Given the description of an element on the screen output the (x, y) to click on. 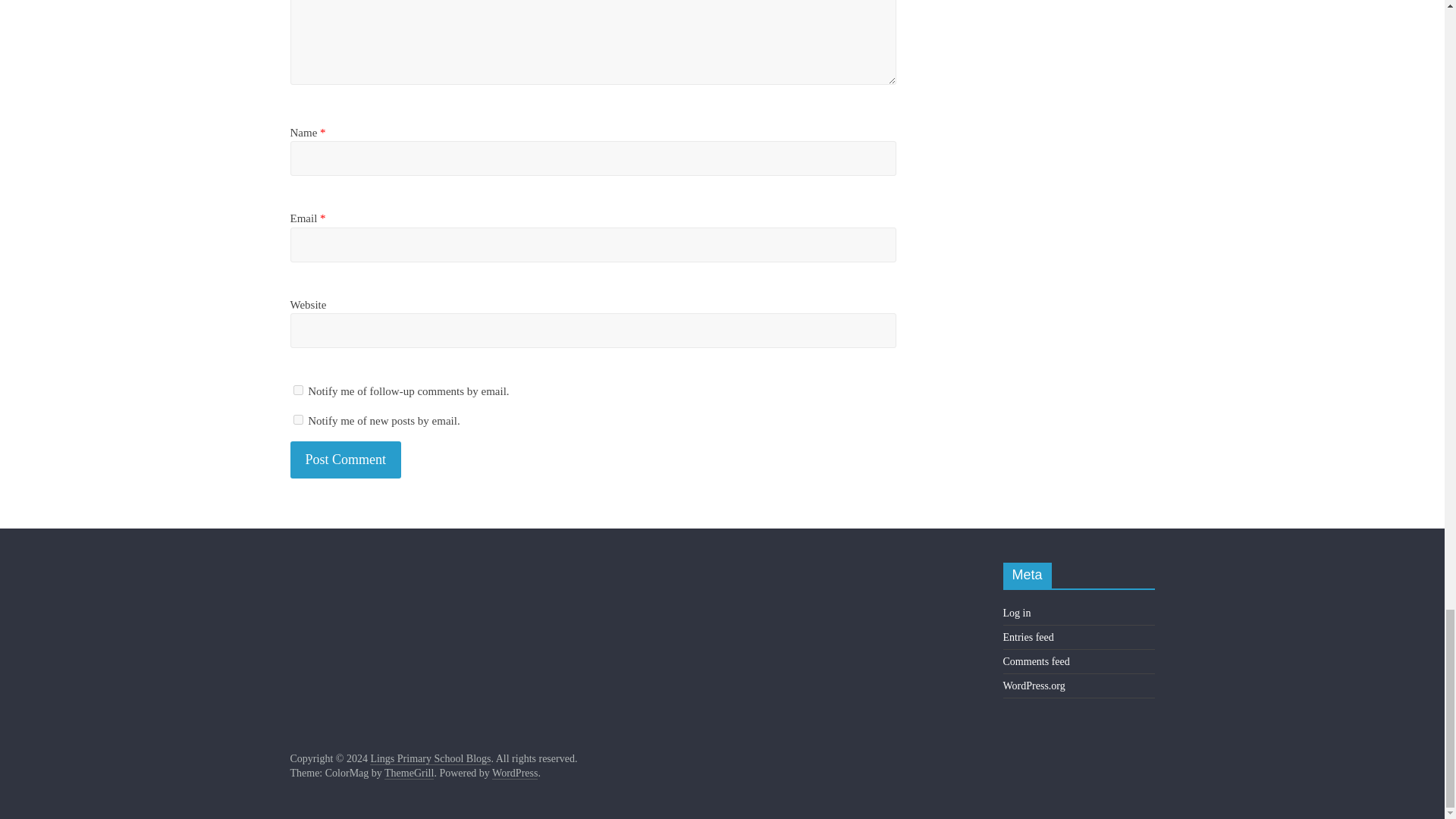
Lings Primary School Blogs (429, 758)
Post Comment (345, 459)
subscribe (297, 419)
subscribe (297, 389)
Post Comment (345, 459)
